Given the description of an element on the screen output the (x, y) to click on. 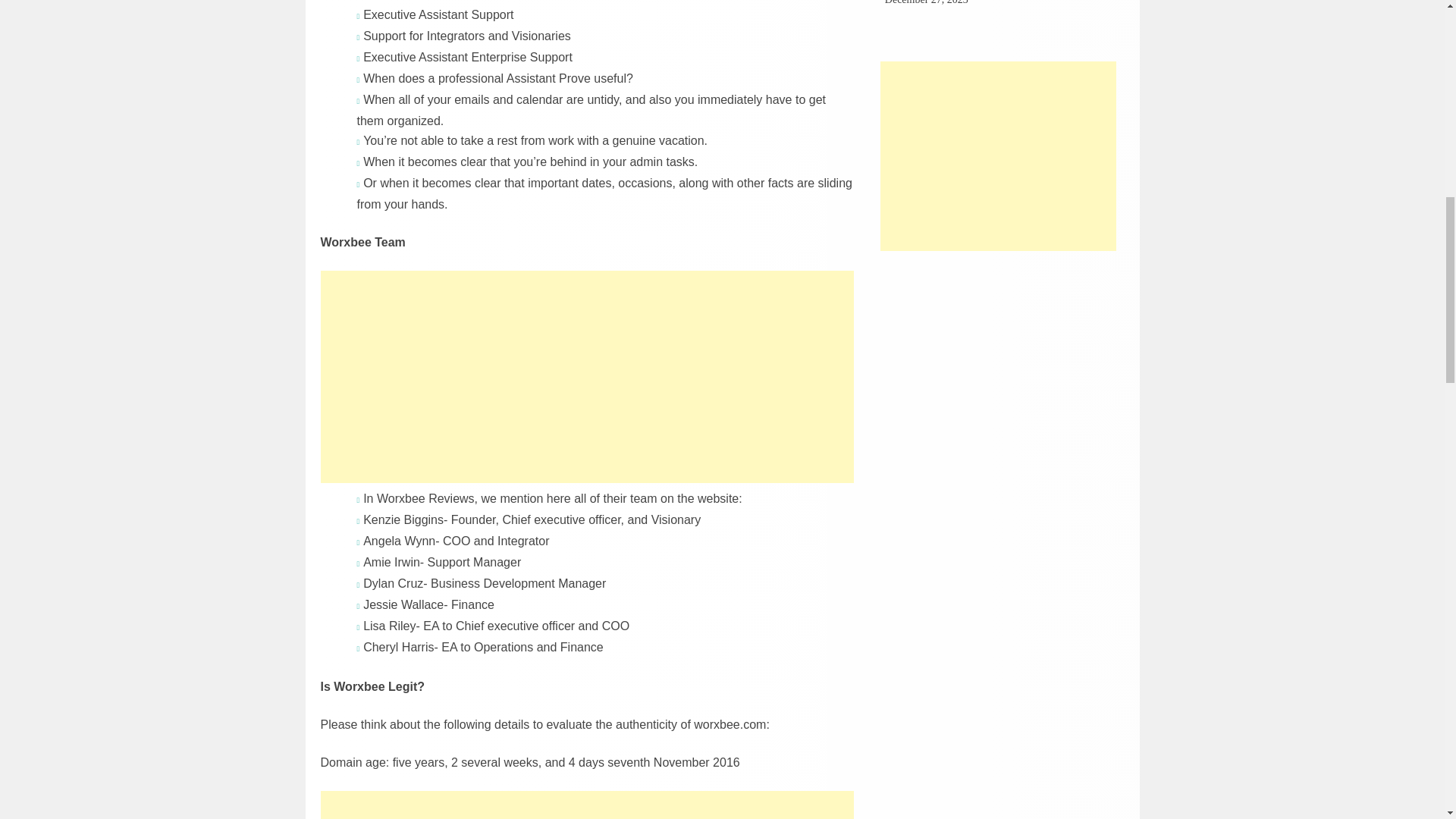
Advertisement (998, 155)
Advertisement (586, 376)
Advertisement (586, 804)
